Given the description of an element on the screen output the (x, y) to click on. 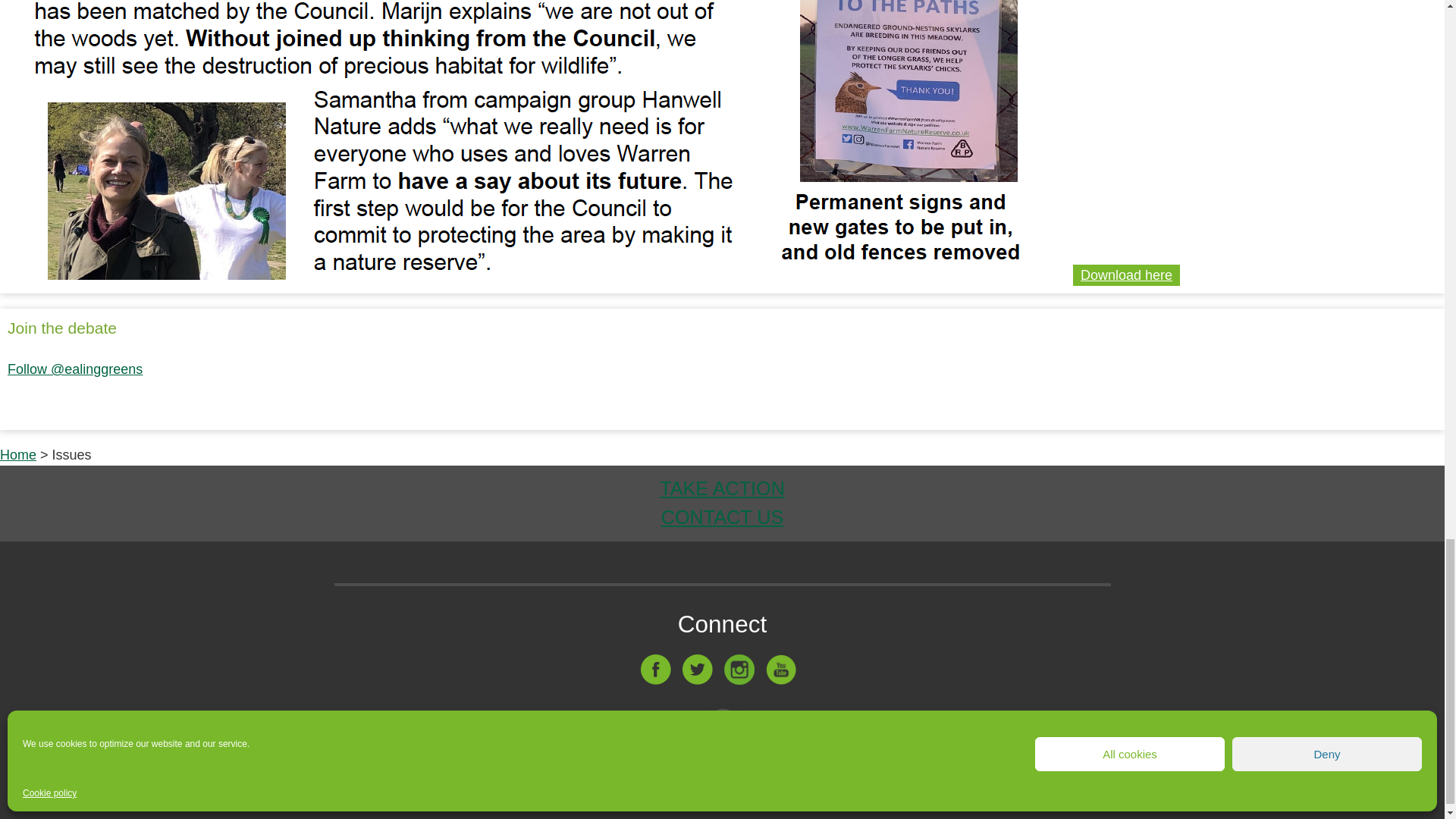
TAKE ACTION (721, 487)
Download here (1126, 274)
Home (18, 454)
Sustainable solutions for your Business (819, 766)
Download here (1126, 274)
CONTACT US (722, 516)
